Given the description of an element on the screen output the (x, y) to click on. 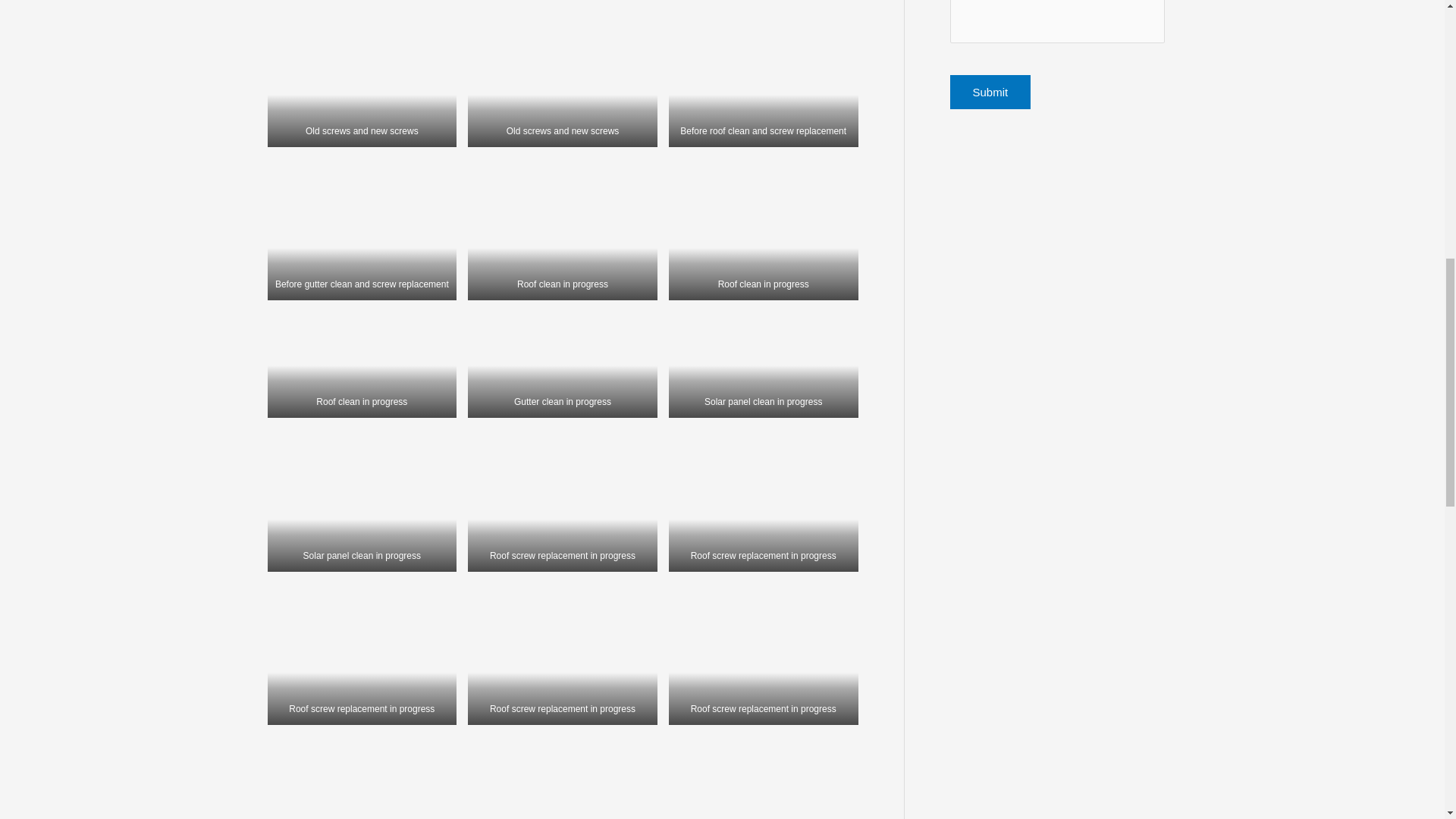
Submit (989, 91)
